Given the description of an element on the screen output the (x, y) to click on. 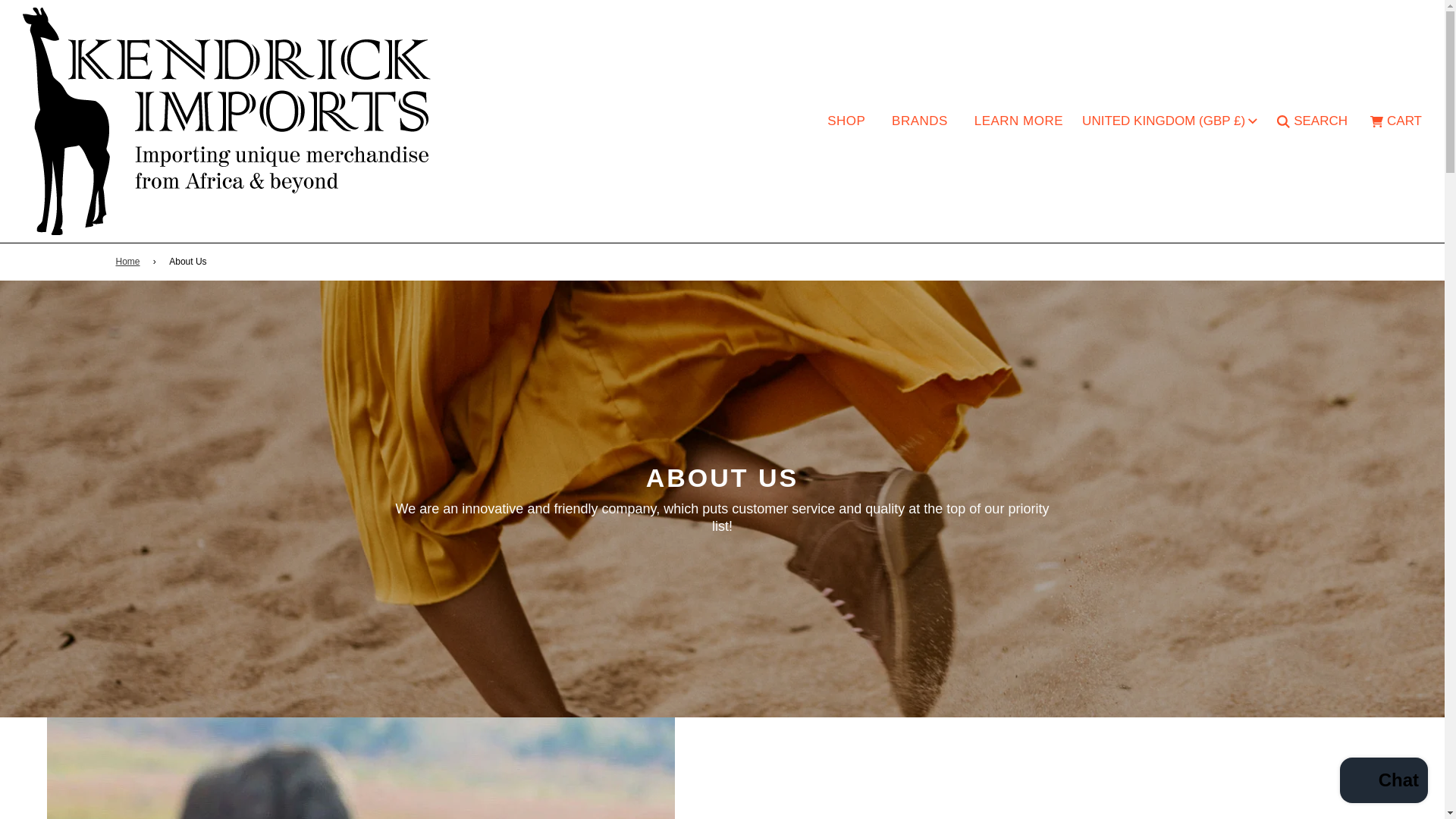
Back to the frontpage (129, 261)
Shopify online store chat (1383, 781)
